Given the description of an element on the screen output the (x, y) to click on. 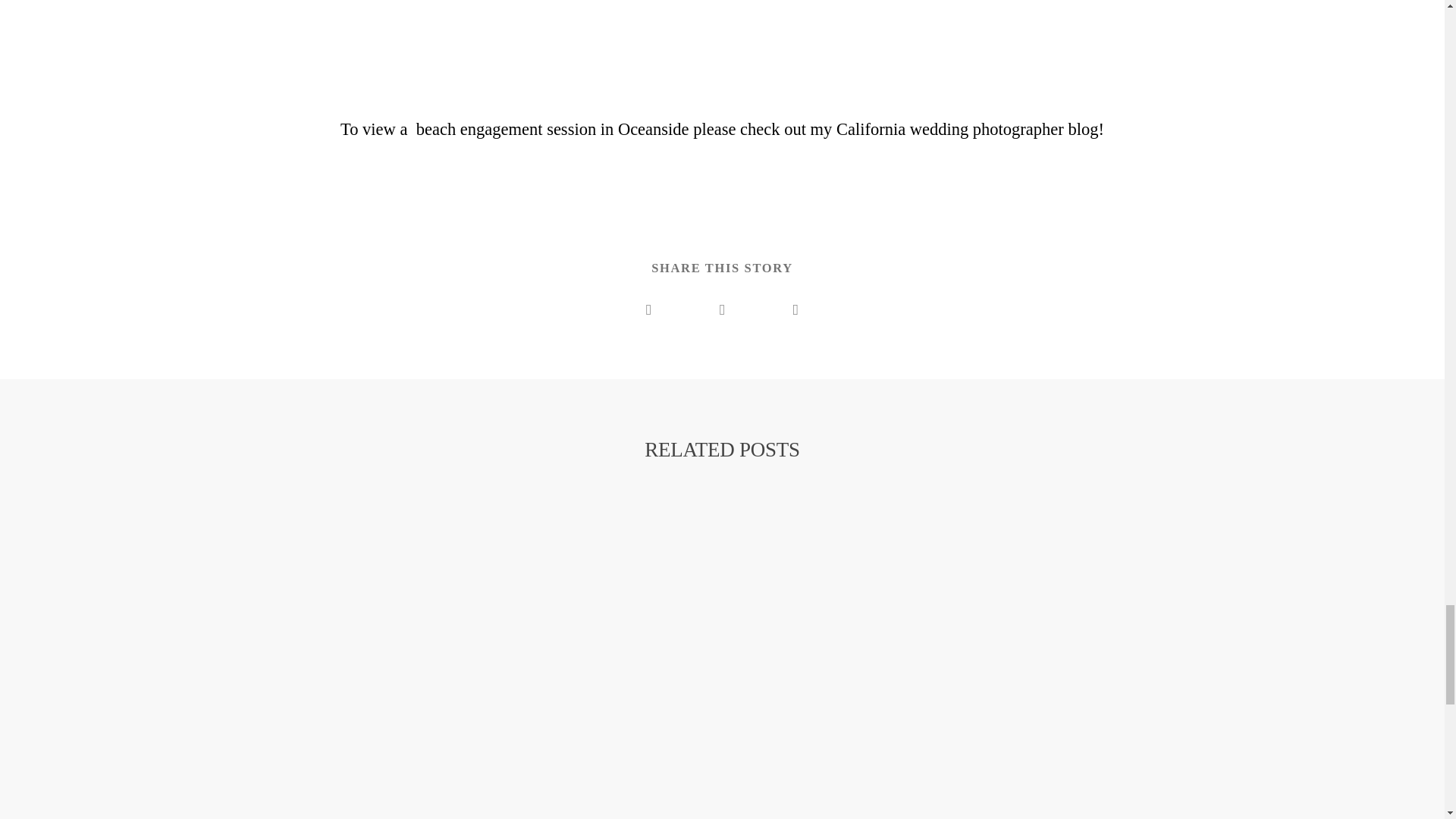
Beach Engagement In Oceanside (552, 128)
